Given the description of an element on the screen output the (x, y) to click on. 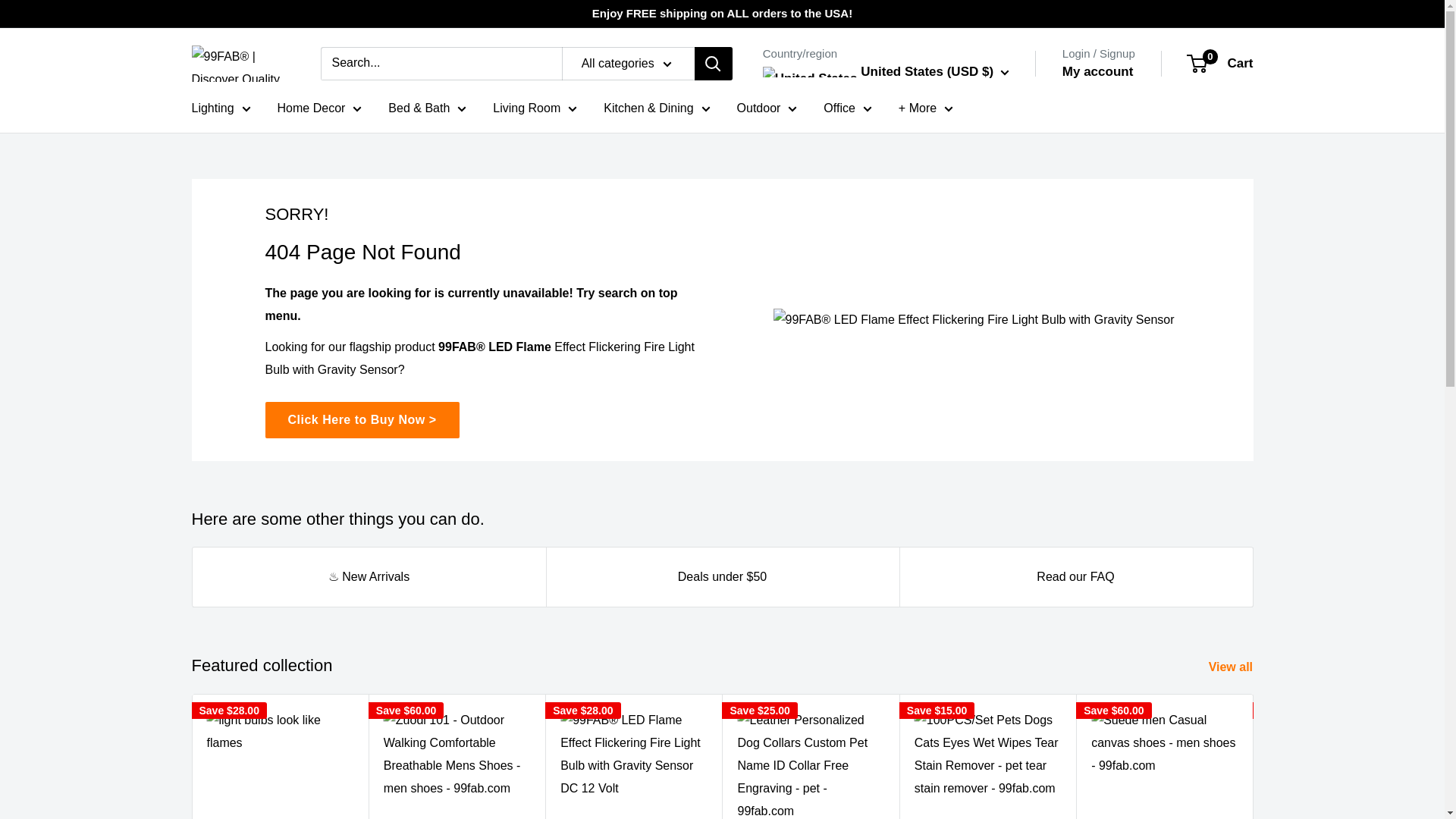
Enjoy FREE shipping on ALL orders to the USA! (721, 13)
